Given the description of an element on the screen output the (x, y) to click on. 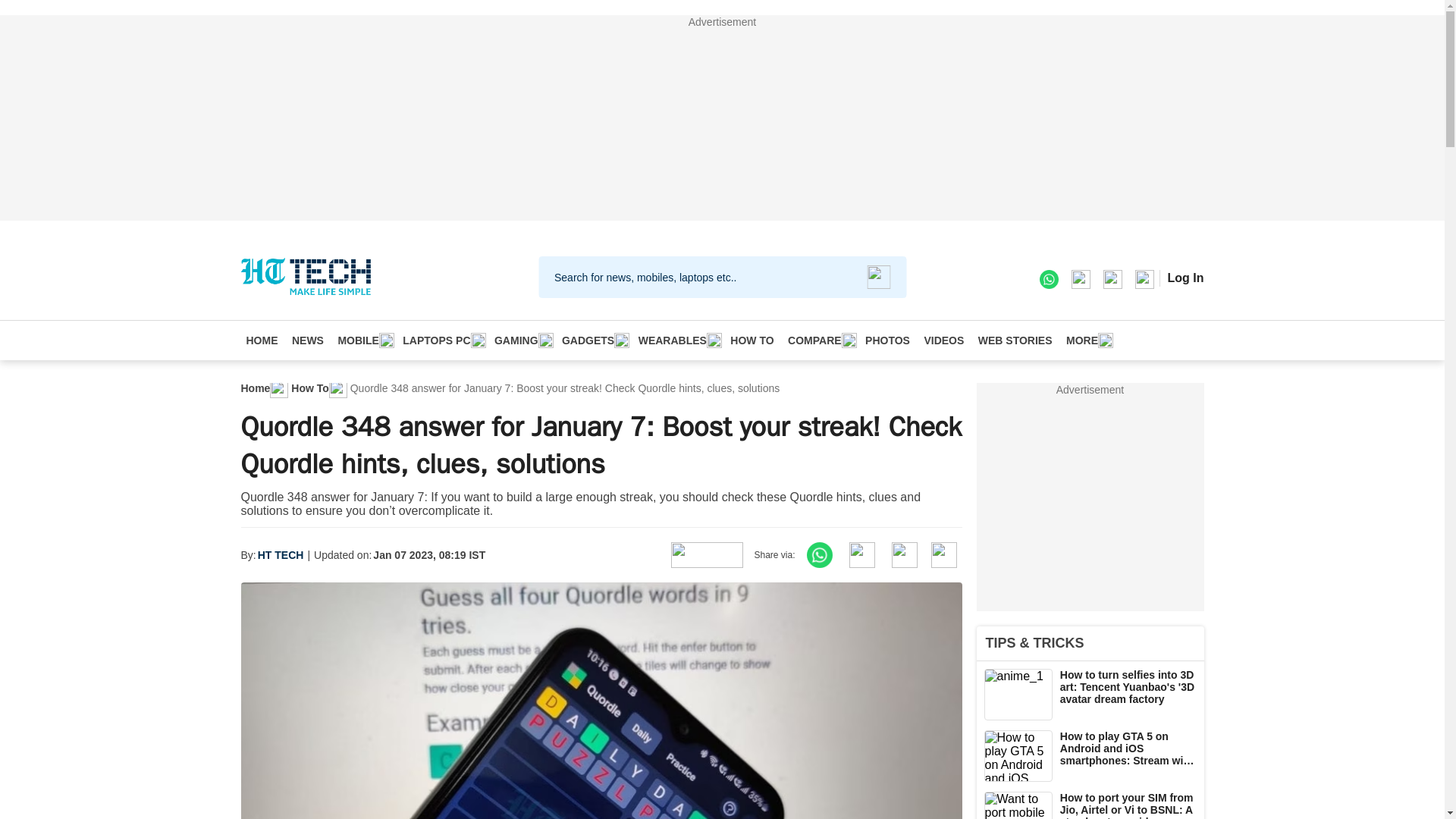
COMPARE (820, 340)
HOW TO (751, 340)
Login (1185, 277)
GAMING (521, 340)
facebook (1079, 278)
LAPTOPS PC (440, 340)
NEWS (307, 340)
youtube (1143, 278)
Get to know more about News from India and around the world. (307, 340)
MOBILE (362, 340)
twitter (1111, 278)
HOME (262, 340)
WEARABLES (677, 340)
